Given the description of an element on the screen output the (x, y) to click on. 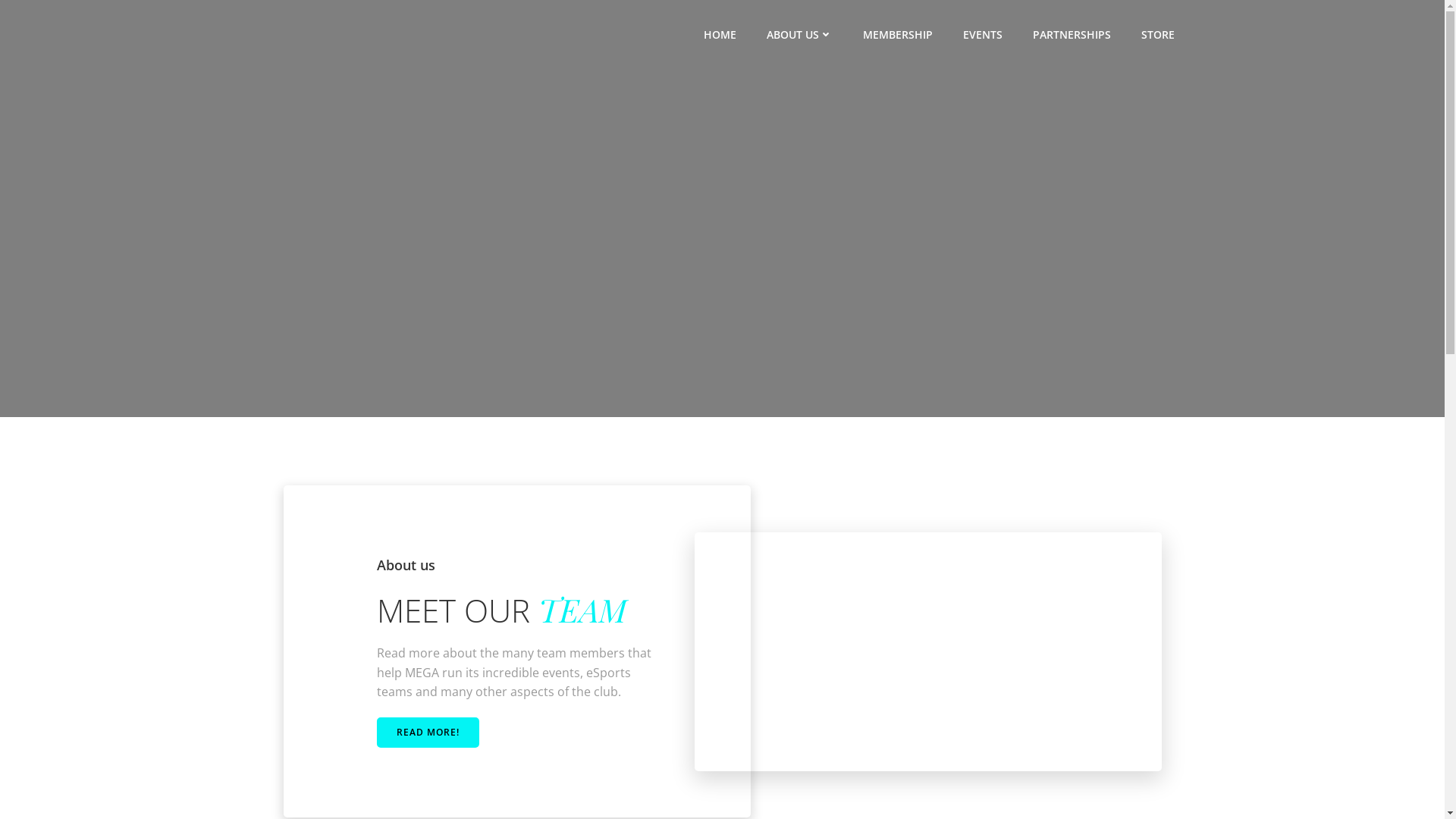
READ MORE! Element type: text (427, 732)
HOME Element type: text (719, 33)
STORE Element type: text (1156, 33)
PARTNERSHIPS Element type: text (1071, 33)
ABOUT US Element type: text (798, 33)
MEMBERSHIP Element type: text (897, 33)
EVENTS Element type: text (982, 33)
